Given the description of an element on the screen output the (x, y) to click on. 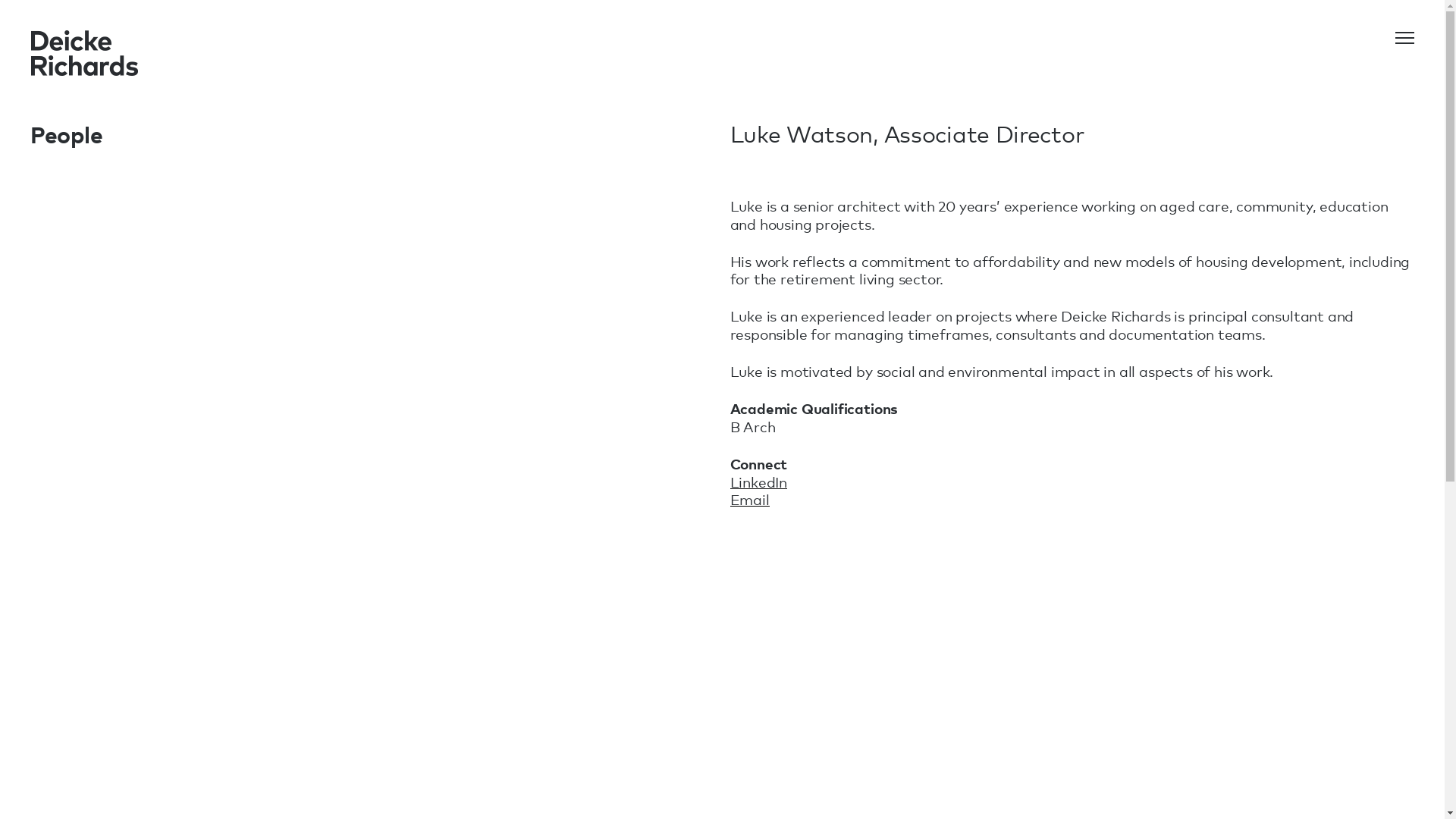
LinkedIn Element type: text (757, 481)
Email Element type: text (748, 499)
Deicke Richards Element type: text (87, 52)
GO Element type: text (1057, 406)
